Given the description of an element on the screen output the (x, y) to click on. 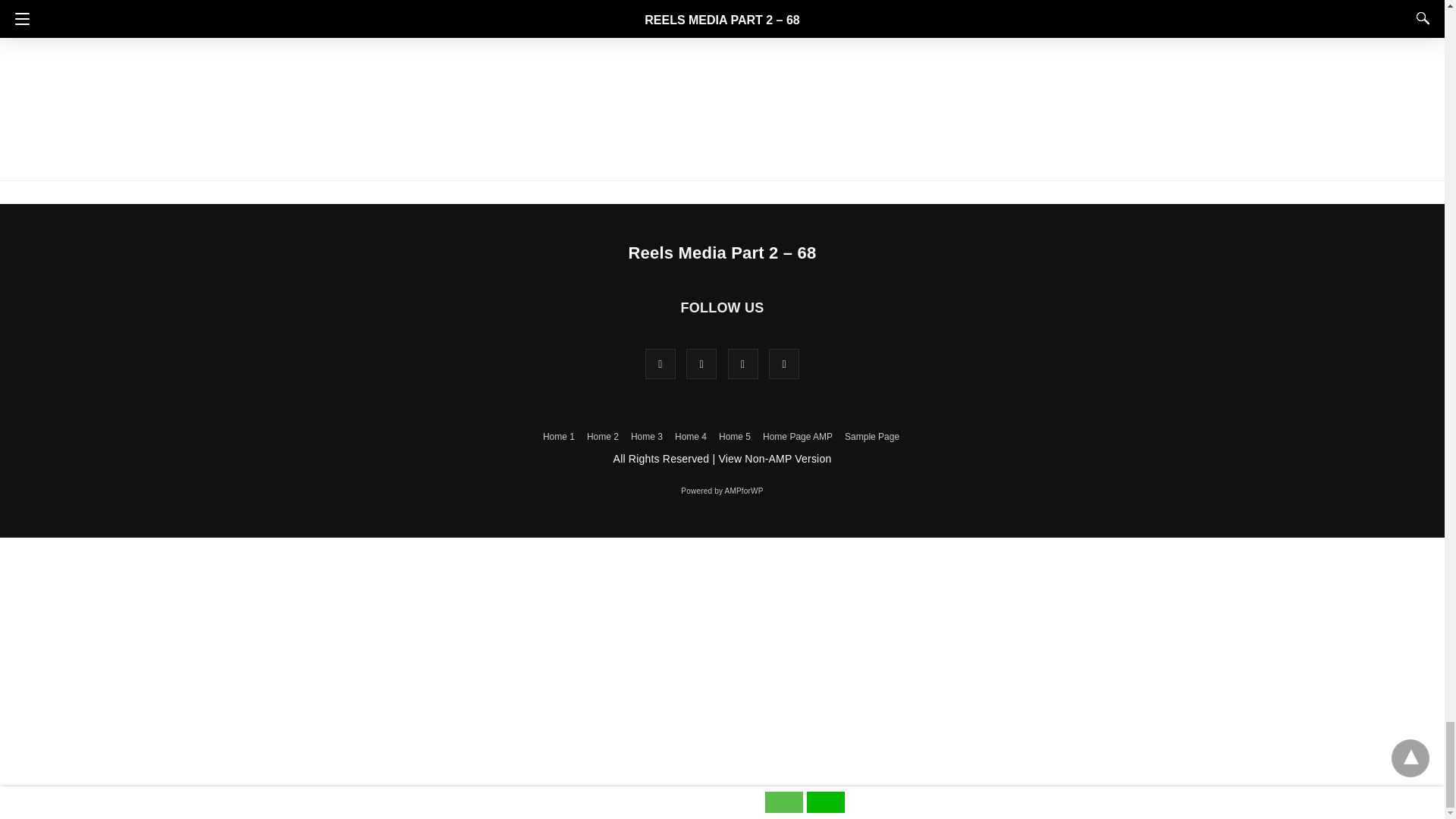
Powered by AMPforWP (721, 490)
Home Page AMP (797, 436)
Home 4 (690, 436)
Home 2 (602, 436)
Sample Page (871, 436)
Home 3 (646, 436)
Home 5 (735, 436)
View Non-AMP Version (774, 458)
Home 1 (559, 436)
